Given the description of an element on the screen output the (x, y) to click on. 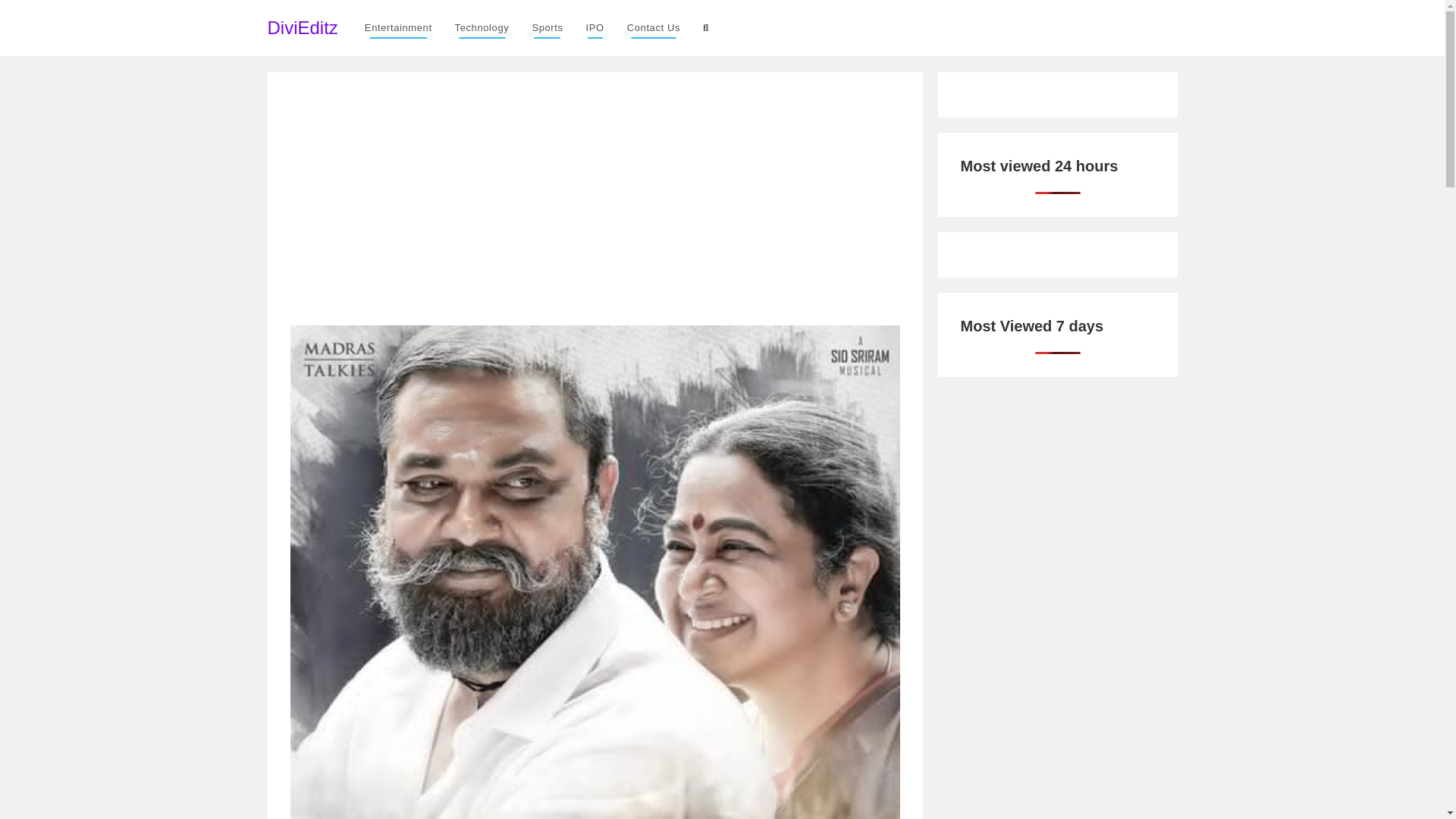
Technology (482, 28)
DiviEditz (301, 27)
Entertainment (398, 28)
Sports (546, 28)
Contact Us (653, 28)
